Given the description of an element on the screen output the (x, y) to click on. 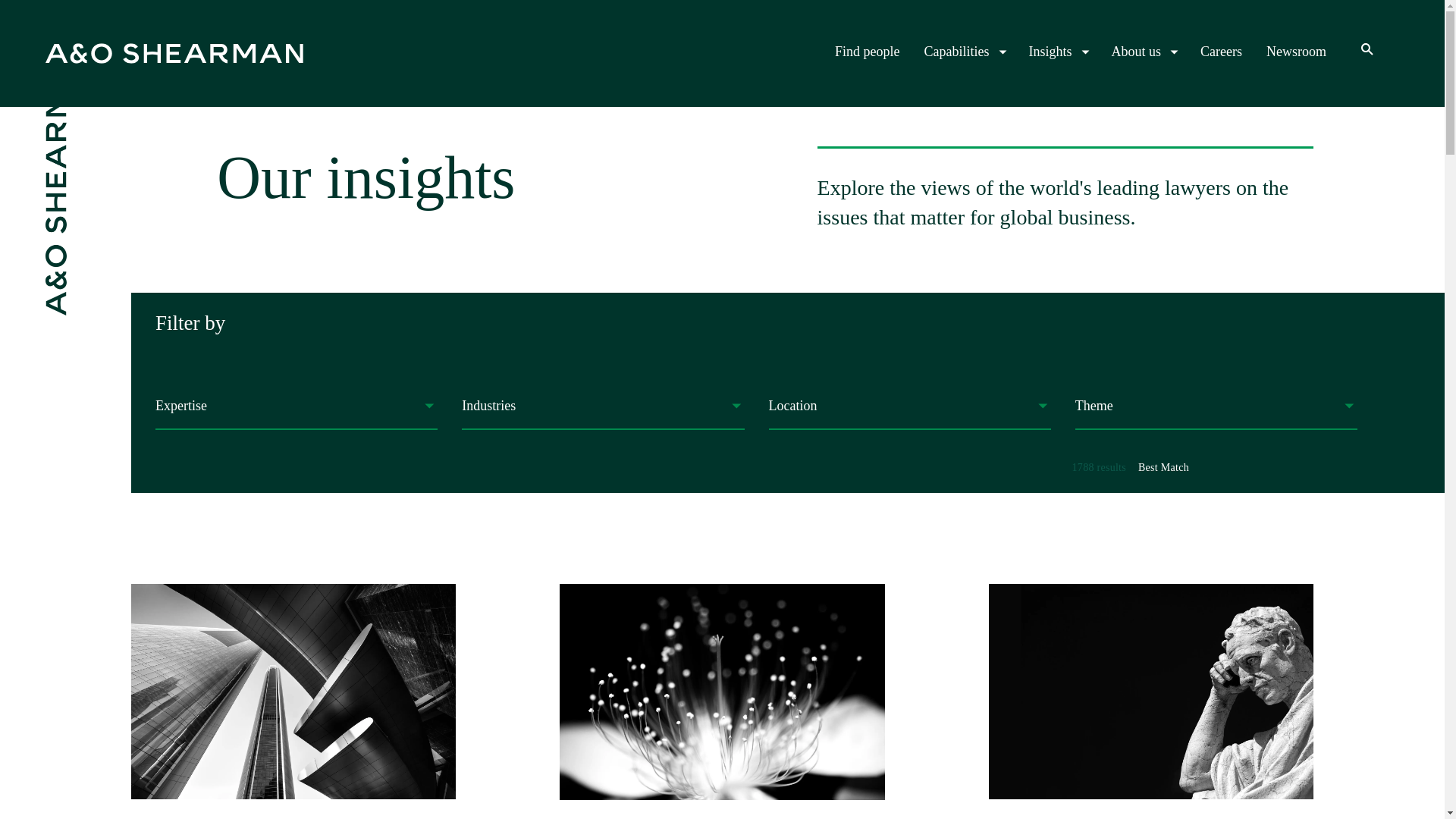
Careers (1220, 51)
About us (1144, 51)
Capabilities (964, 51)
Find people (866, 51)
Newsroom (1296, 51)
Insights (1056, 51)
